Given the description of an element on the screen output the (x, y) to click on. 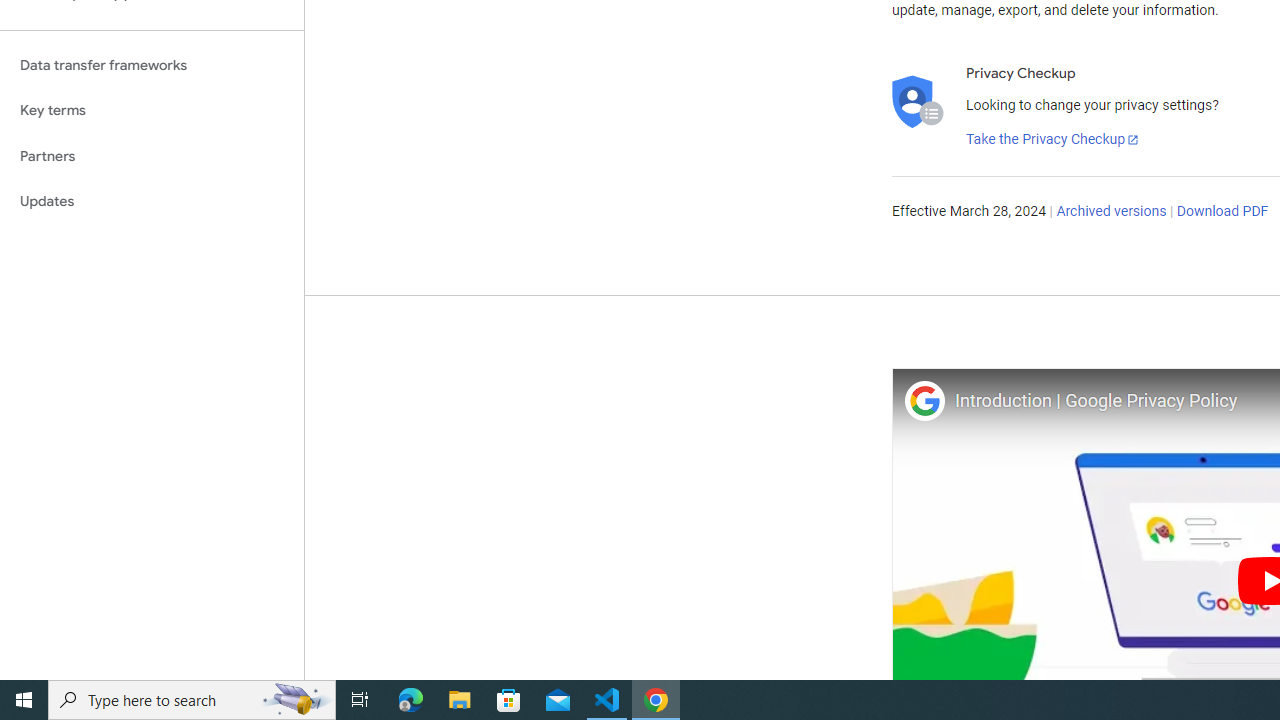
Archived versions (1111, 212)
Download PDF (1222, 212)
Data transfer frameworks (152, 65)
Take the Privacy Checkup (1053, 140)
Partners (152, 156)
Key terms (152, 110)
Photo image of Google (924, 400)
Updates (152, 201)
